Given the description of an element on the screen output the (x, y) to click on. 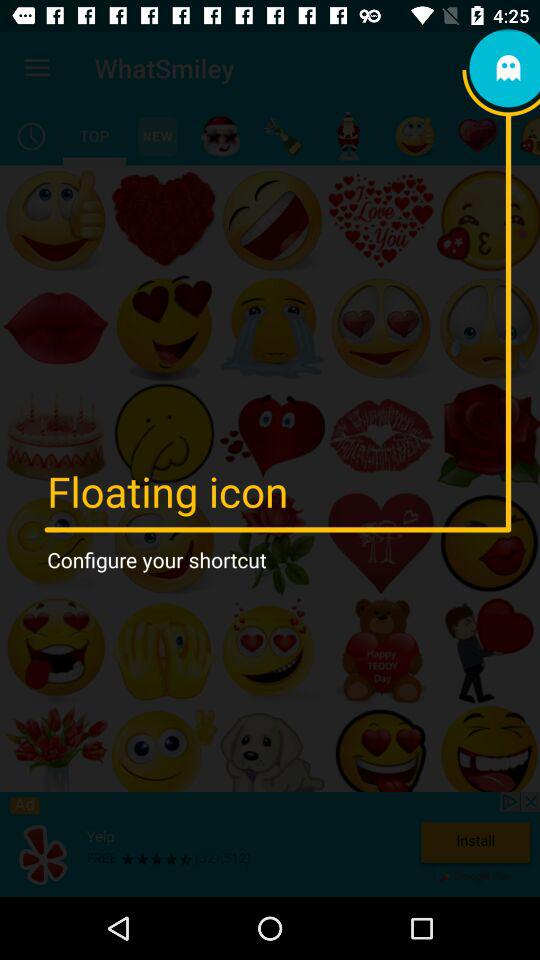
christmas emoji collection (220, 136)
